Given the description of an element on the screen output the (x, y) to click on. 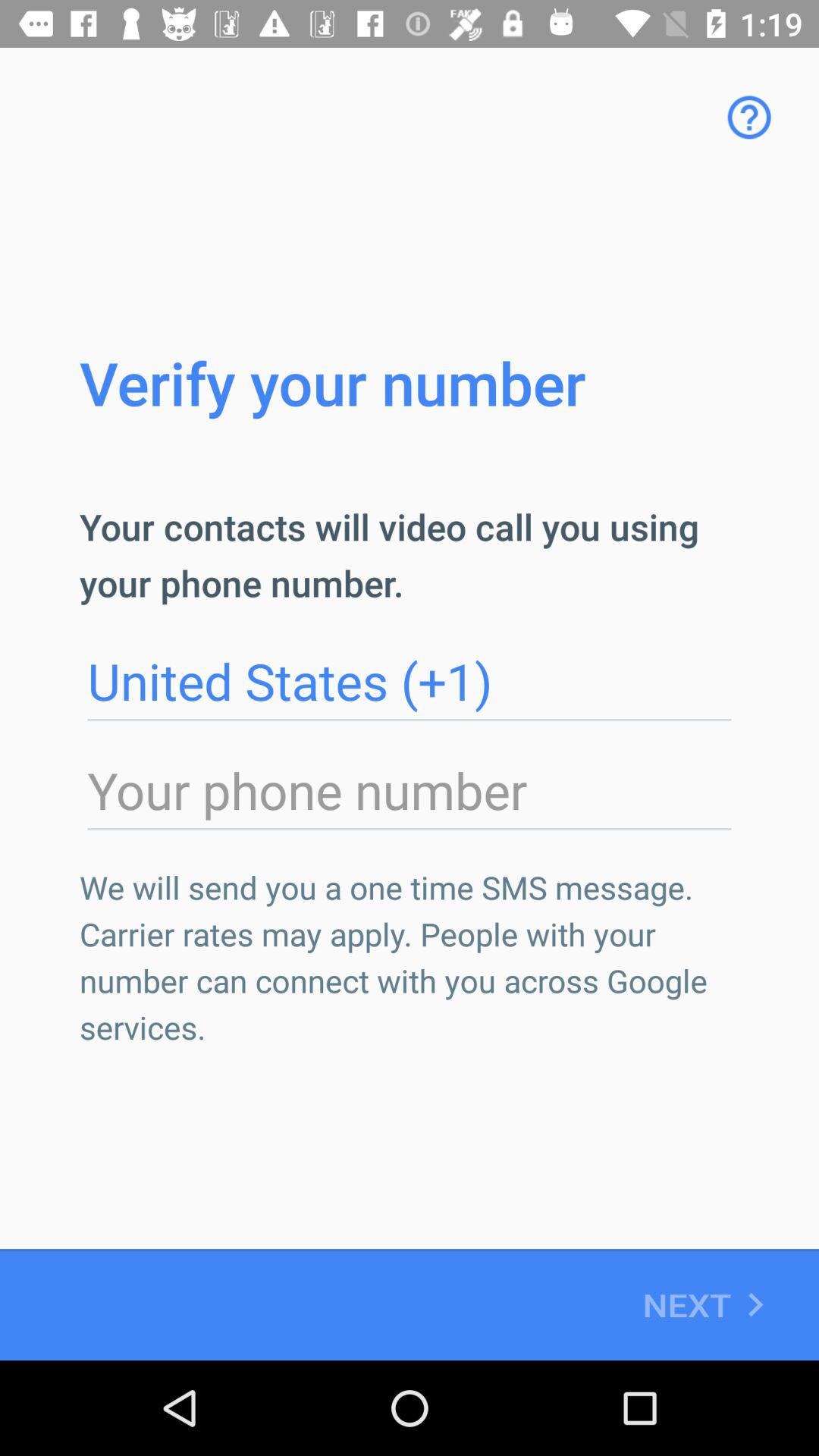
enter photo number (409, 790)
